Given the description of an element on the screen output the (x, y) to click on. 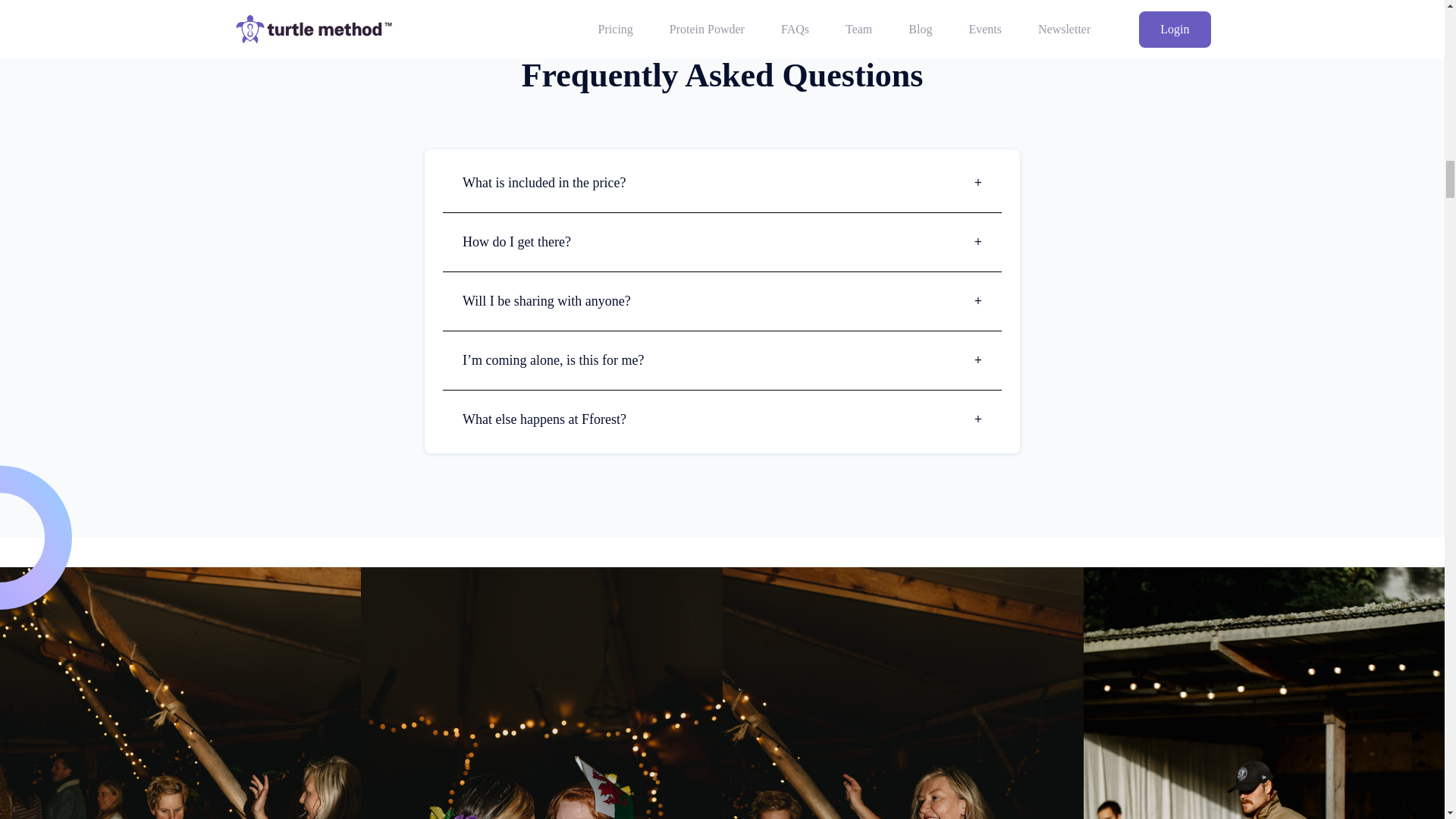
What else happens at Fforest? (721, 418)
How do I get there? (721, 241)
Will I be sharing with anyone? (721, 300)
What is included in the price? (721, 182)
